Given the description of an element on the screen output the (x, y) to click on. 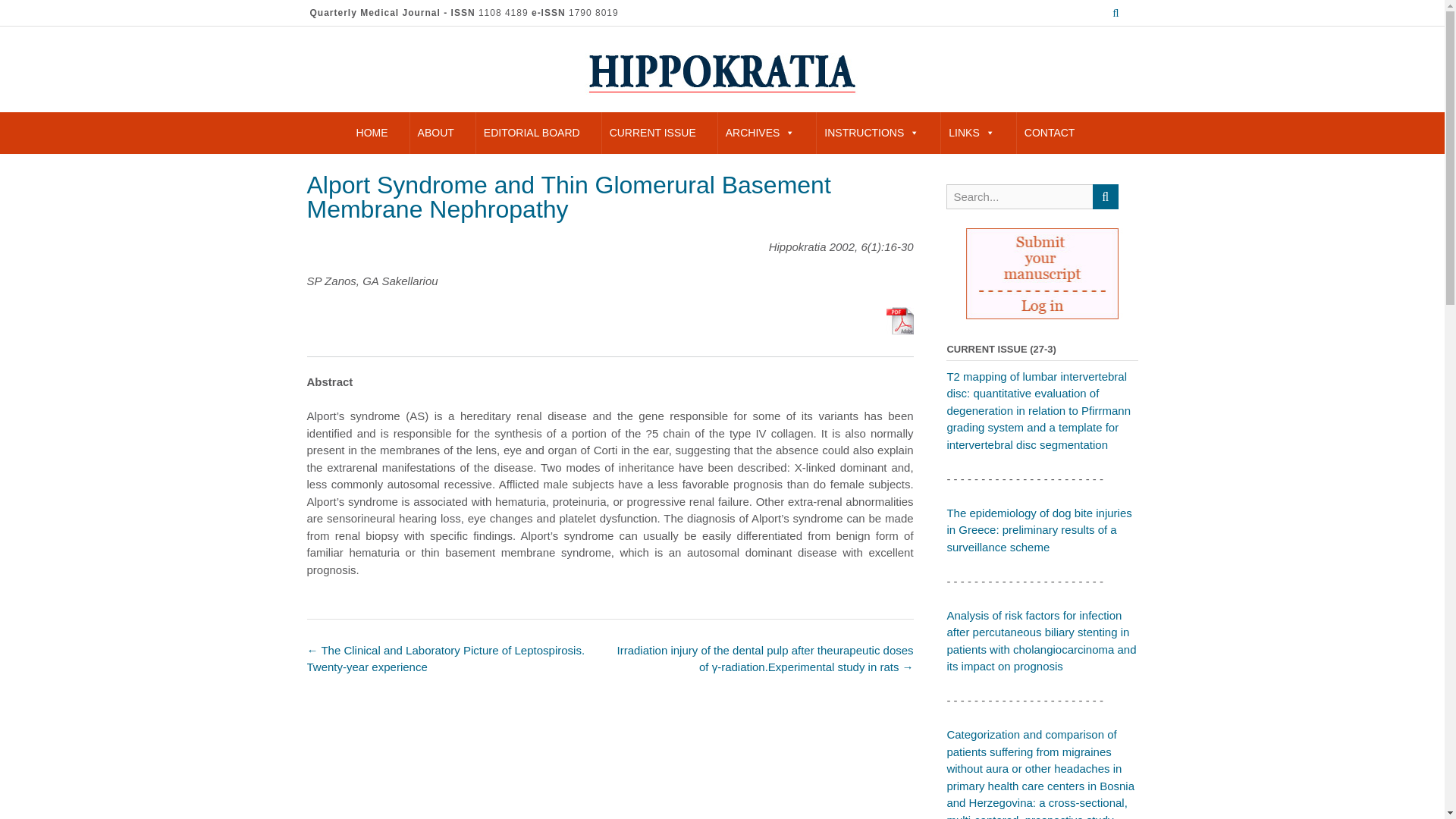
CURRENT ISSUE (652, 132)
ARCHIVES (760, 132)
ABOUT (435, 132)
Search for: (1019, 196)
EDITORIAL BOARD (532, 132)
HOME (372, 132)
